Given the description of an element on the screen output the (x, y) to click on. 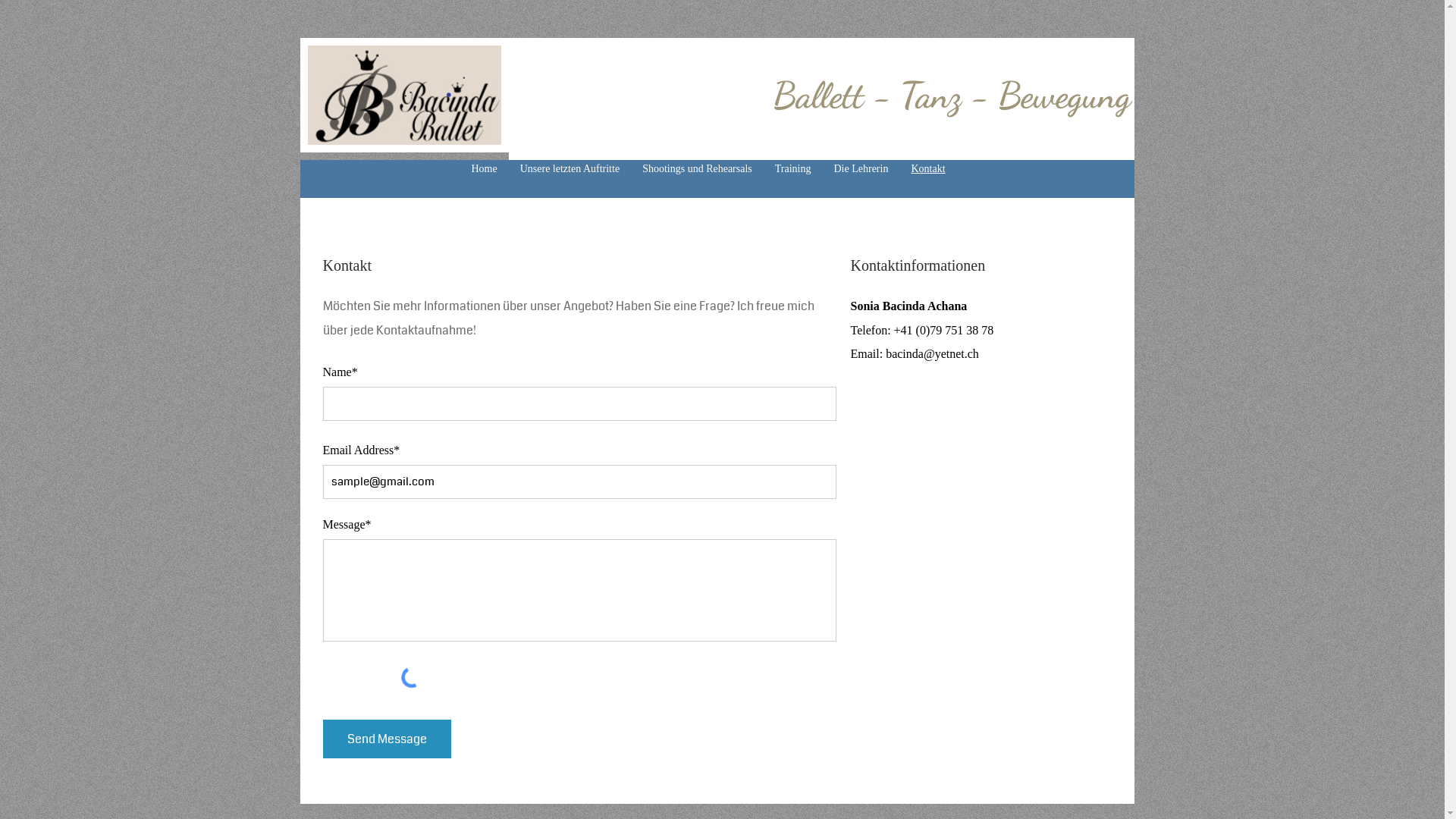
Home Element type: text (483, 168)
Shootings und Rehearsals Element type: text (696, 168)
Send Message Element type: text (387, 738)
Kontakt Element type: text (927, 168)
Unsere letzten Auftritte Element type: text (569, 168)
Die Lehrerin Element type: text (860, 168)
bacinda@yetnet.ch Element type: text (932, 353)
Training Element type: text (792, 168)
